Given the description of an element on the screen output the (x, y) to click on. 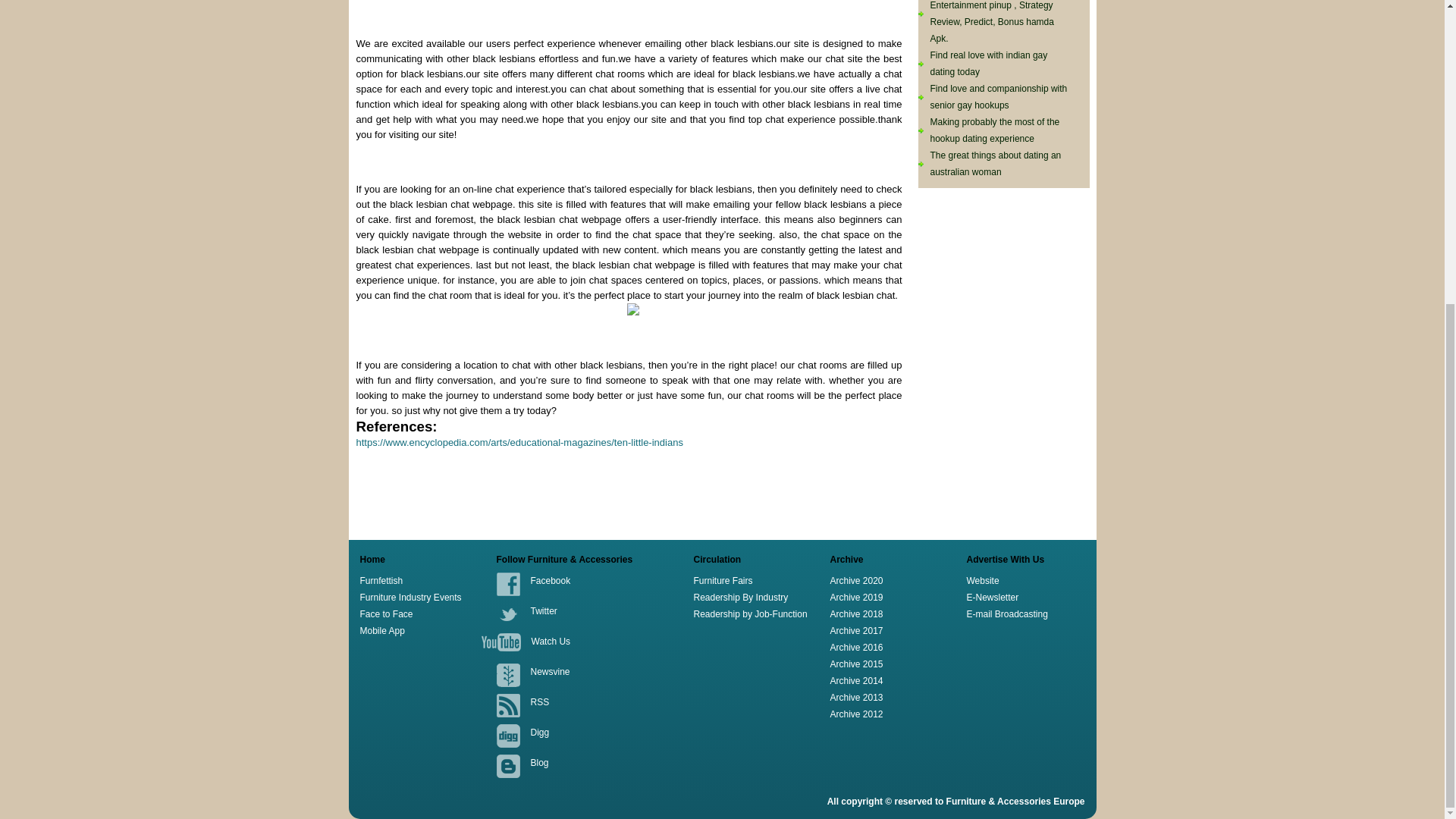
Mobile App (381, 630)
The great things about dating an australian woman (995, 163)
Facebook (550, 580)
Readership By Industry (740, 597)
Blog (539, 762)
Readership by Job-Function (749, 614)
Find love and companionship with senior gay hookups (998, 96)
Watch Us (550, 641)
Face to Face (385, 614)
Digg (540, 732)
Find real love with indian gay dating today (988, 62)
Furniture Industry Events (410, 597)
Newsvine (550, 671)
Furniture Fairs (722, 580)
